Given the description of an element on the screen output the (x, y) to click on. 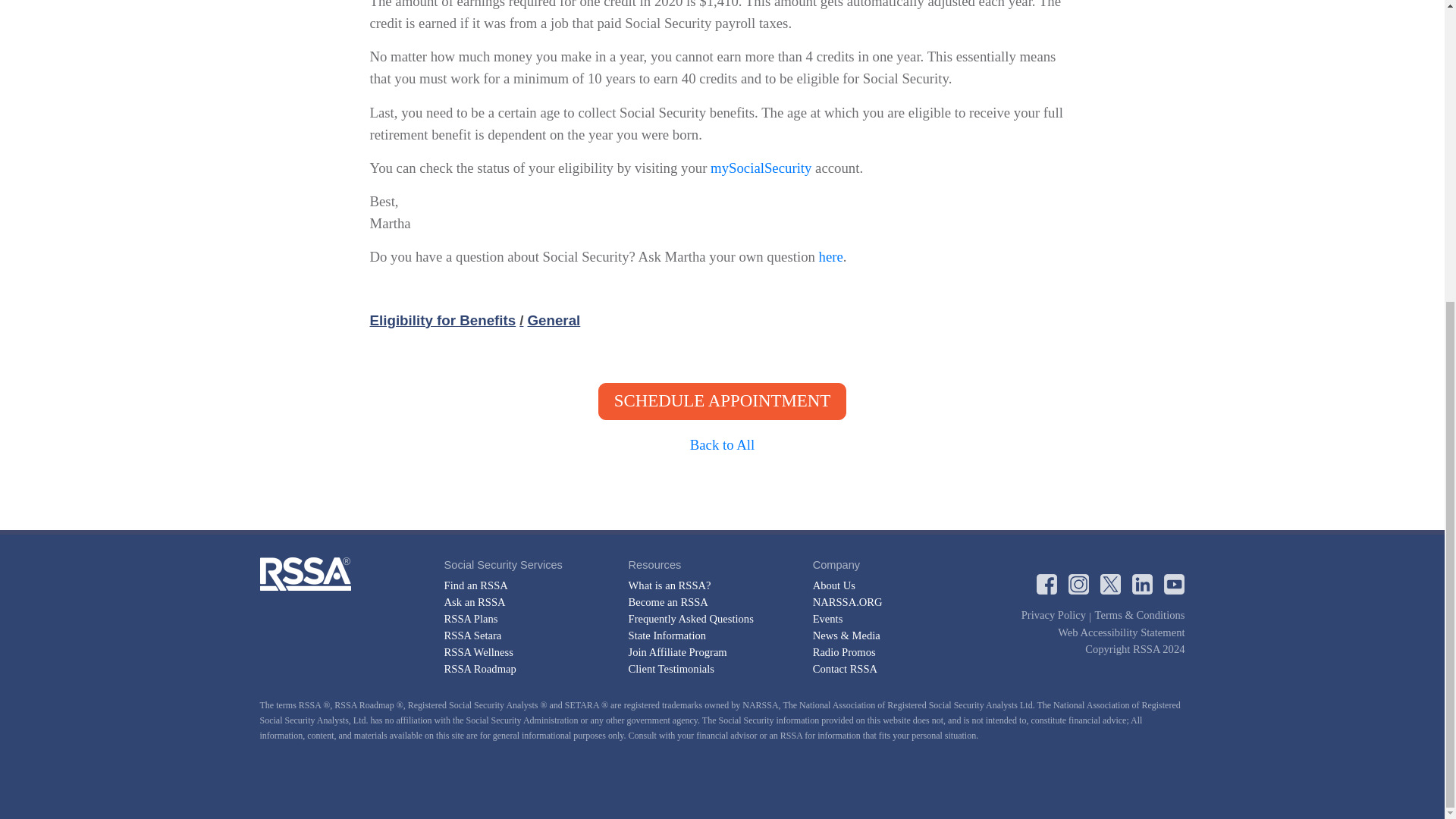
Ask an RSSA (474, 602)
Back to All (722, 444)
SCHEDULE APPOINTMENT (721, 401)
mySocialSecurity (760, 167)
here (830, 256)
Eligibility for Benefits (442, 320)
RSSA Plans (470, 618)
General (547, 320)
RSSA Setara (473, 635)
Find an RSSA (476, 585)
